Given the description of an element on the screen output the (x, y) to click on. 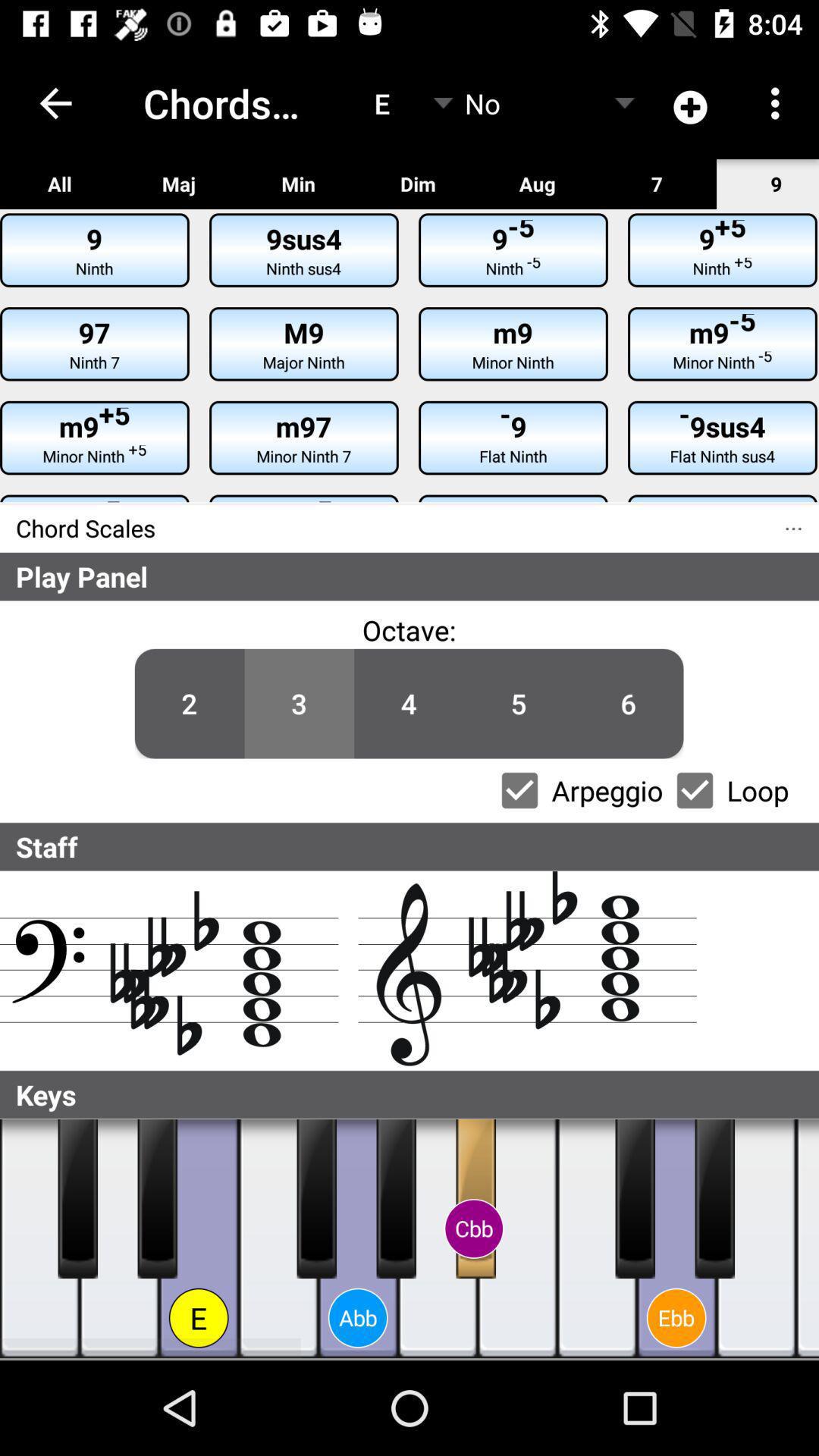
piano key (278, 1238)
